Given the description of an element on the screen output the (x, y) to click on. 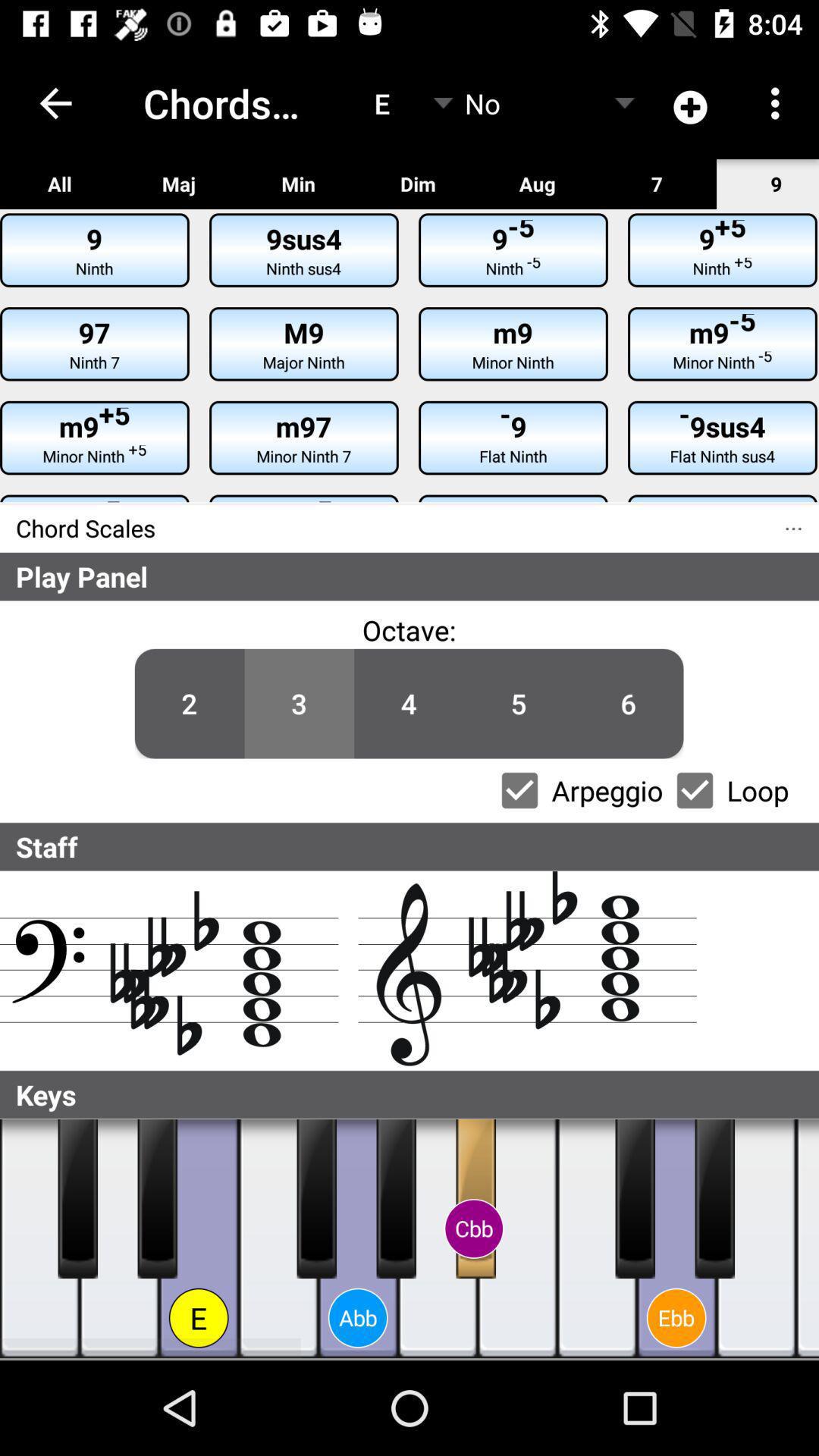
piano key (278, 1238)
